Given the description of an element on the screen output the (x, y) to click on. 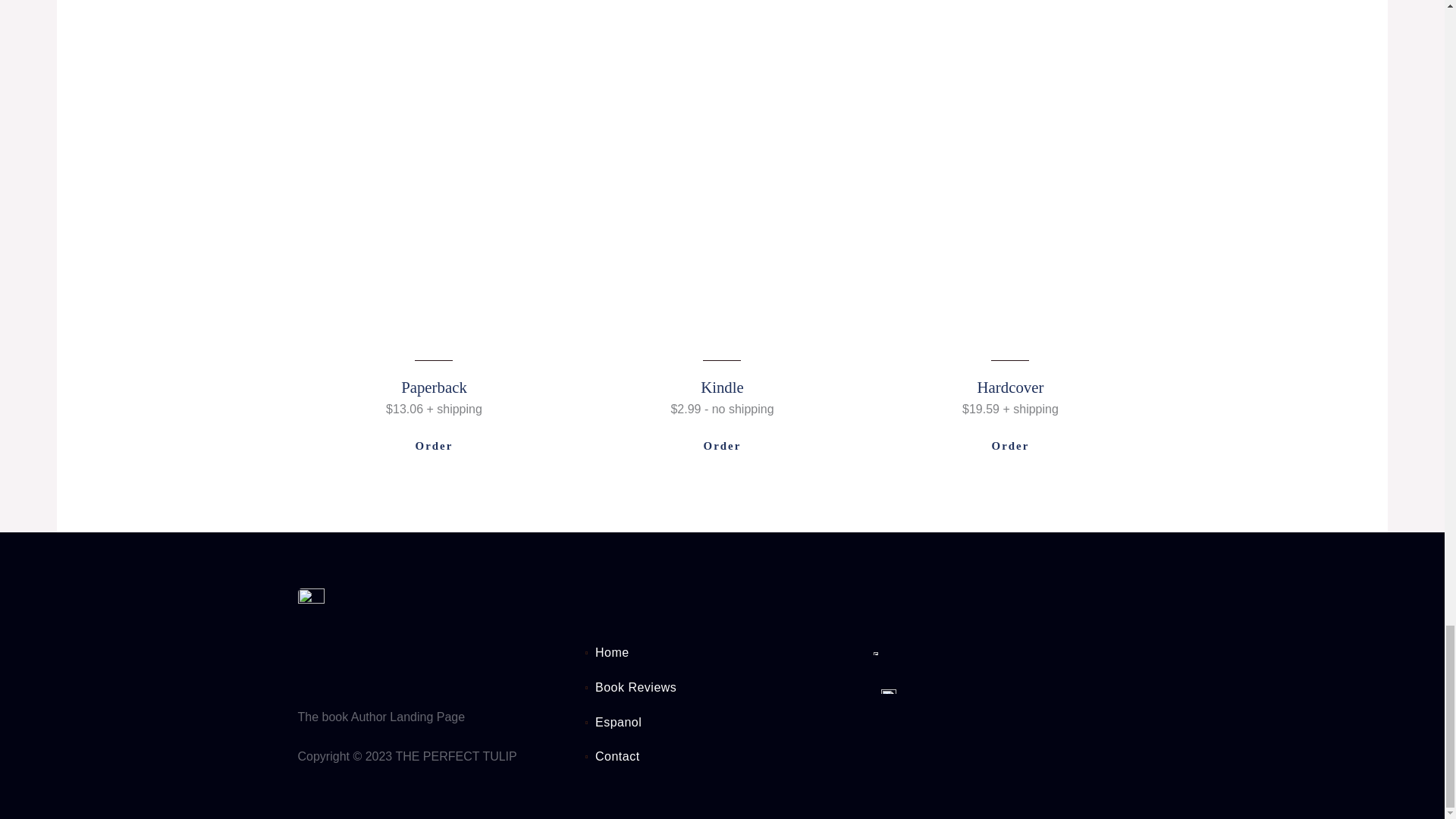
Book Reviews (722, 687)
Order (722, 446)
Home (722, 652)
Order (1010, 446)
Contact (722, 756)
Espanol (722, 722)
Order (433, 446)
